Given the description of an element on the screen output the (x, y) to click on. 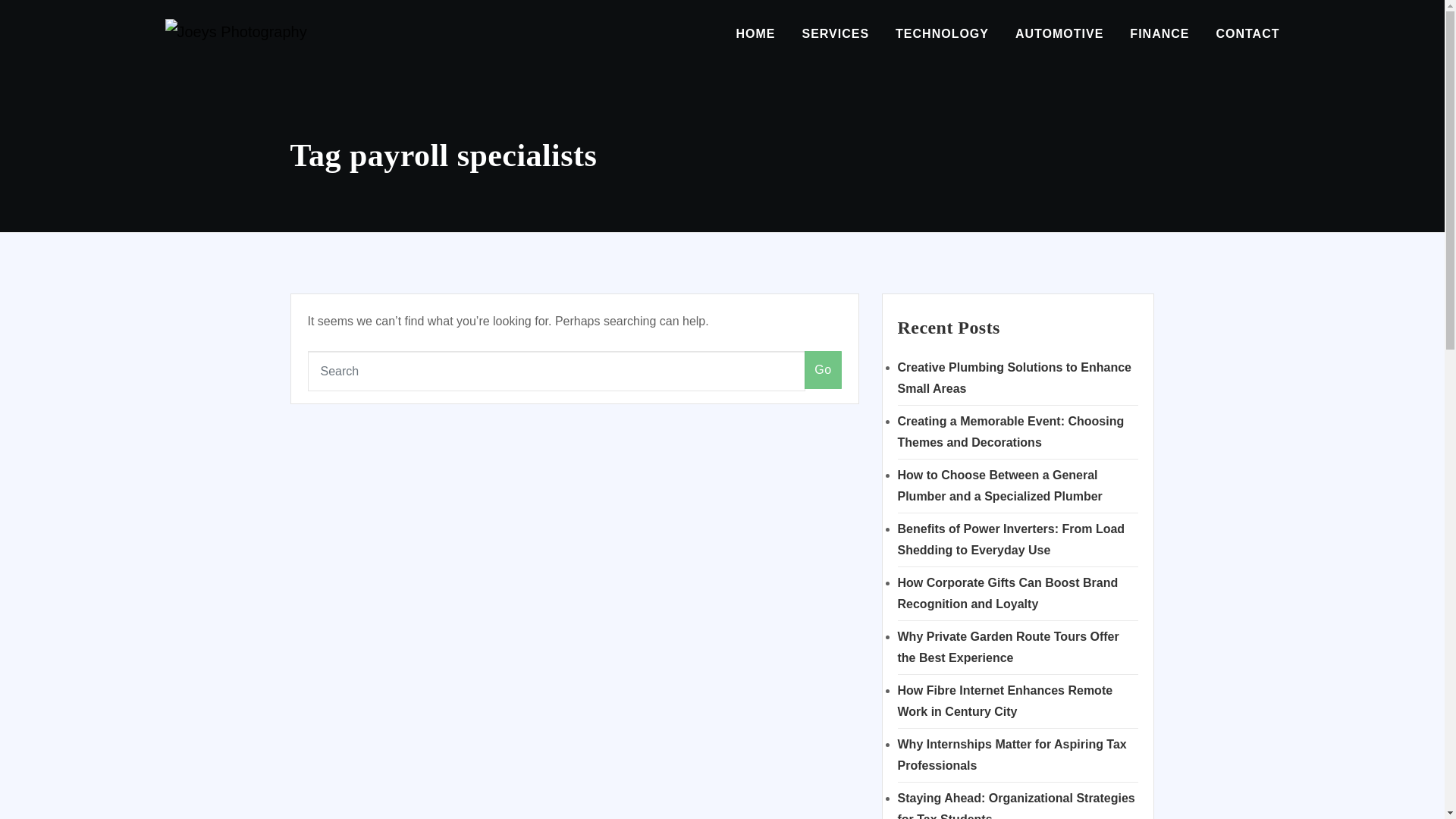
How Fibre Internet Enhances Remote Work in Century City (1005, 700)
HOME (754, 33)
Why Private Garden Route Tours Offer the Best Experience (1008, 646)
Creative Plumbing Solutions to Enhance Small Areas (1014, 377)
FINANCE (1159, 33)
SERVICES (835, 33)
Staying Ahead: Organizational Strategies for Tax Students (1016, 805)
AUTOMOTIVE (1058, 33)
Why Internships Matter for Aspiring Tax Professionals (1012, 754)
Creating a Memorable Event: Choosing Themes and Decorations (1011, 431)
Go (823, 370)
CONTACT (1247, 33)
How Corporate Gifts Can Boost Brand Recognition and Loyalty (1008, 593)
